Given the description of an element on the screen output the (x, y) to click on. 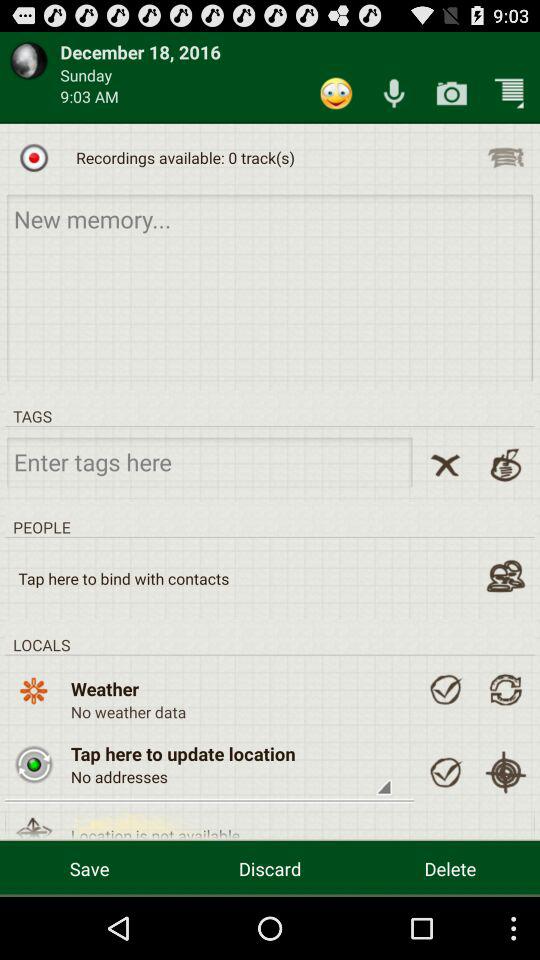
voice recording (394, 92)
